Given the description of an element on the screen output the (x, y) to click on. 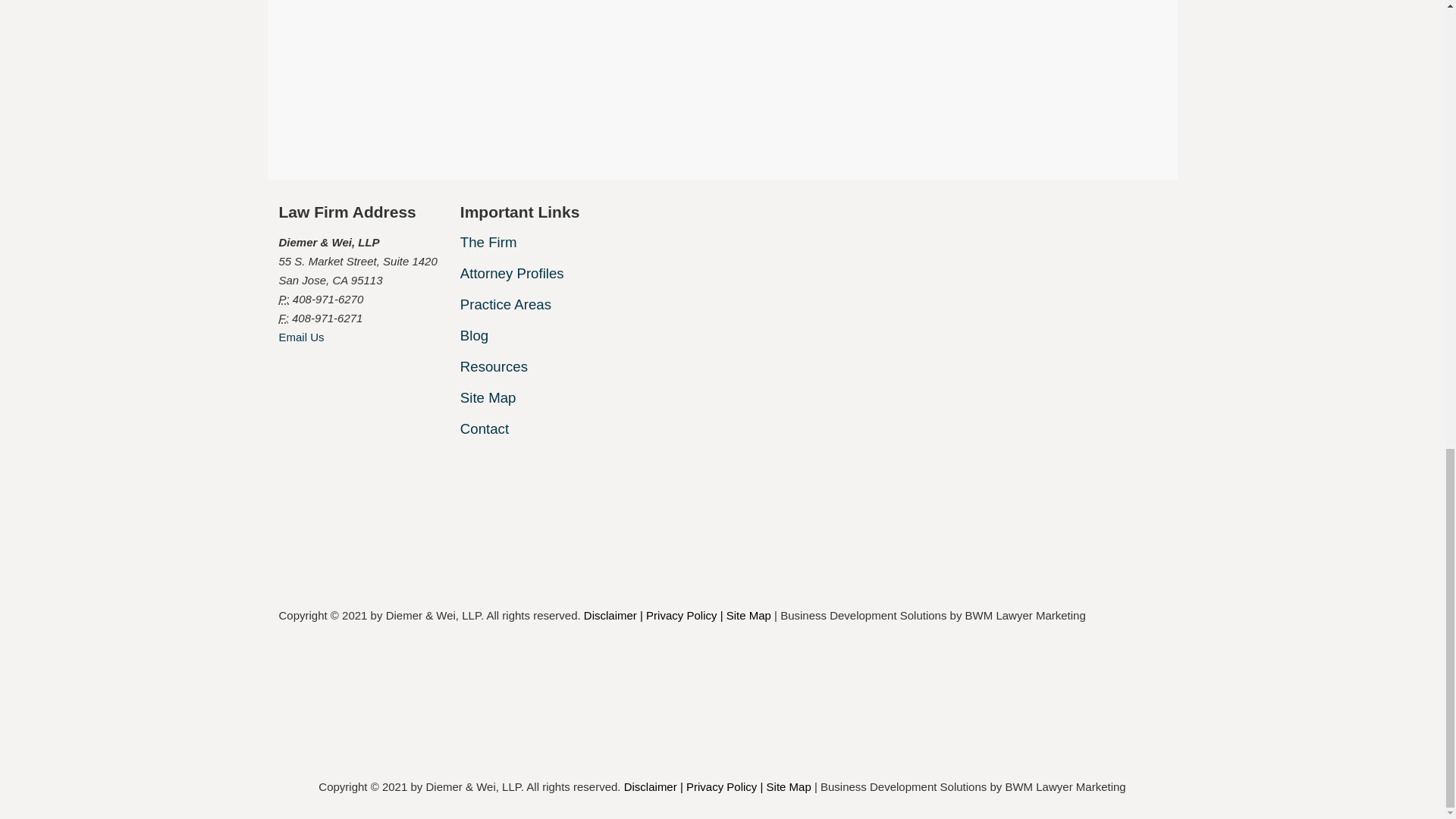
Email Us (301, 336)
